Given the description of an element on the screen output the (x, y) to click on. 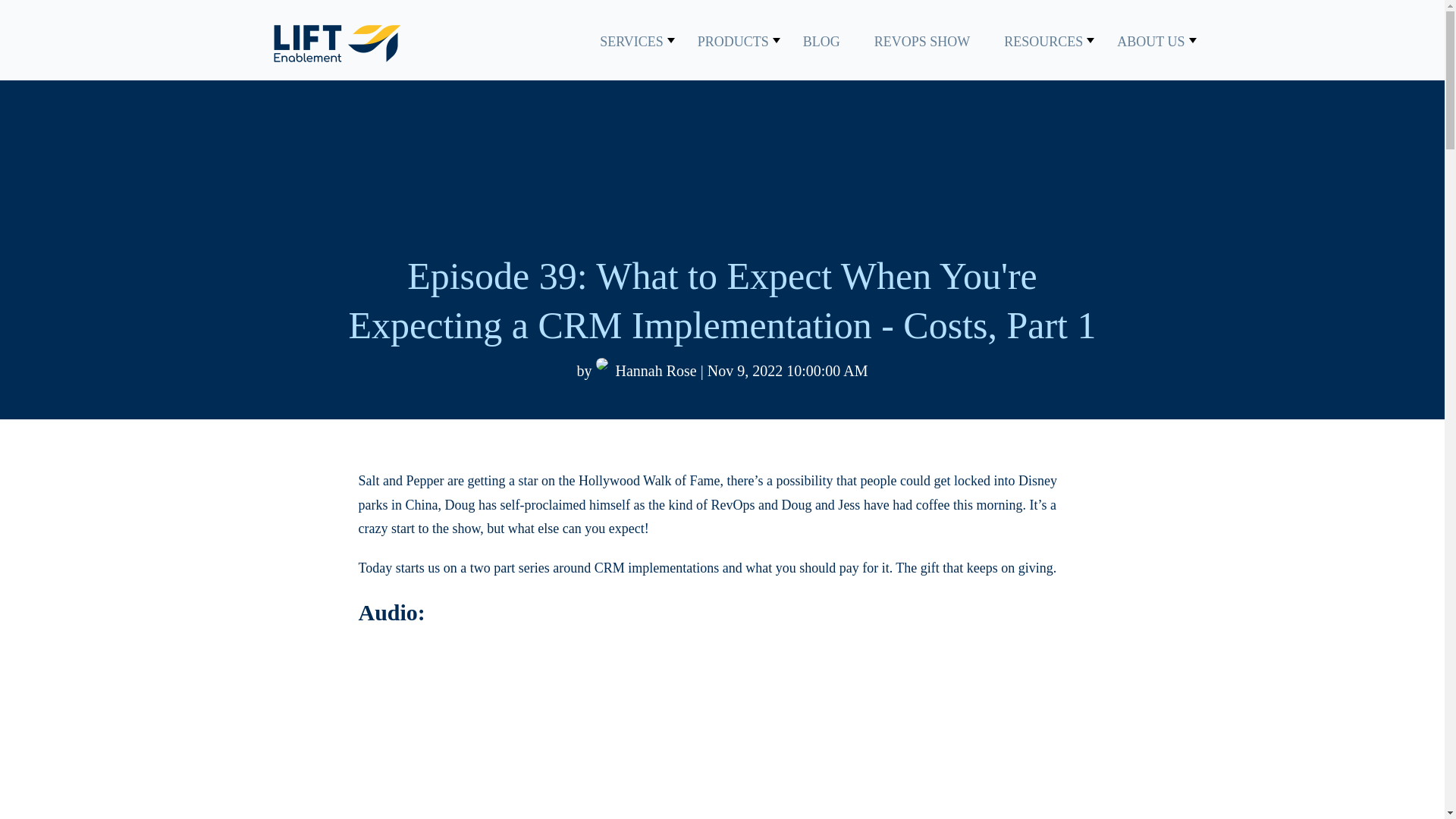
RESOURCES (1043, 41)
BLOG (821, 41)
ABOUT US (1150, 41)
SERVICES (631, 41)
PRODUCTS (732, 41)
REVOPS SHOW (923, 41)
Lift-Enablement (336, 43)
